Given the description of an element on the screen output the (x, y) to click on. 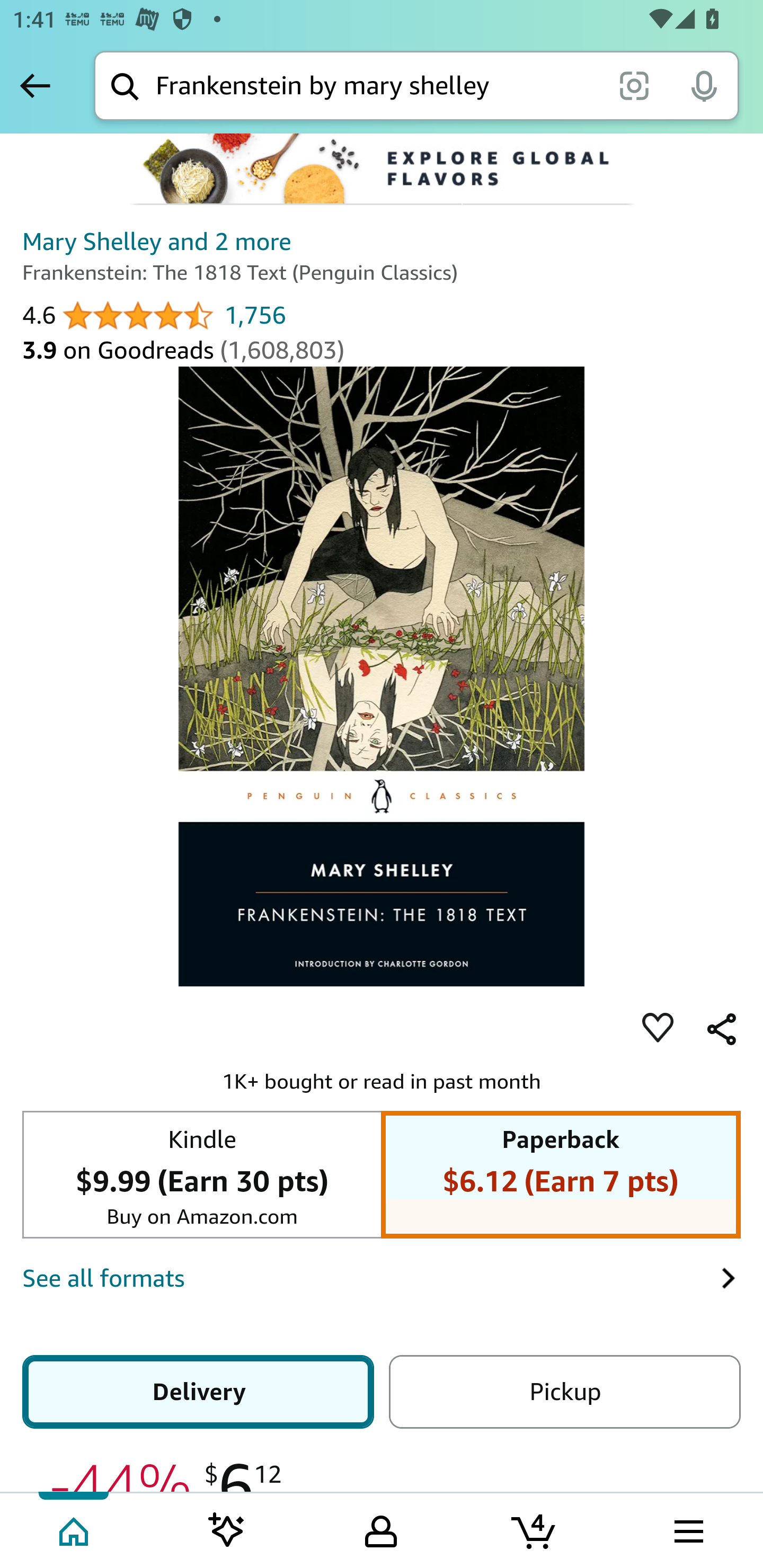
Back (35, 85)
scan it (633, 85)
Mary Shelley and 2 more Mary Shelley  and 2 more (157, 241)
Frankenstein: The 1818 Text (Penguin Classics) (381, 675)
Heart to save an item to your default list (657, 1028)
See all formats (371, 1278)
Delivery (198, 1391)
Pickup (564, 1391)
Home Tab 1 of 5 (75, 1529)
Inspire feed Tab 2 of 5 (227, 1529)
Your Amazon.com Tab 3 of 5 (380, 1529)
Cart 4 items Tab 4 of 5 4 (534, 1529)
Browse menu Tab 5 of 5 (687, 1529)
